Given the description of an element on the screen output the (x, y) to click on. 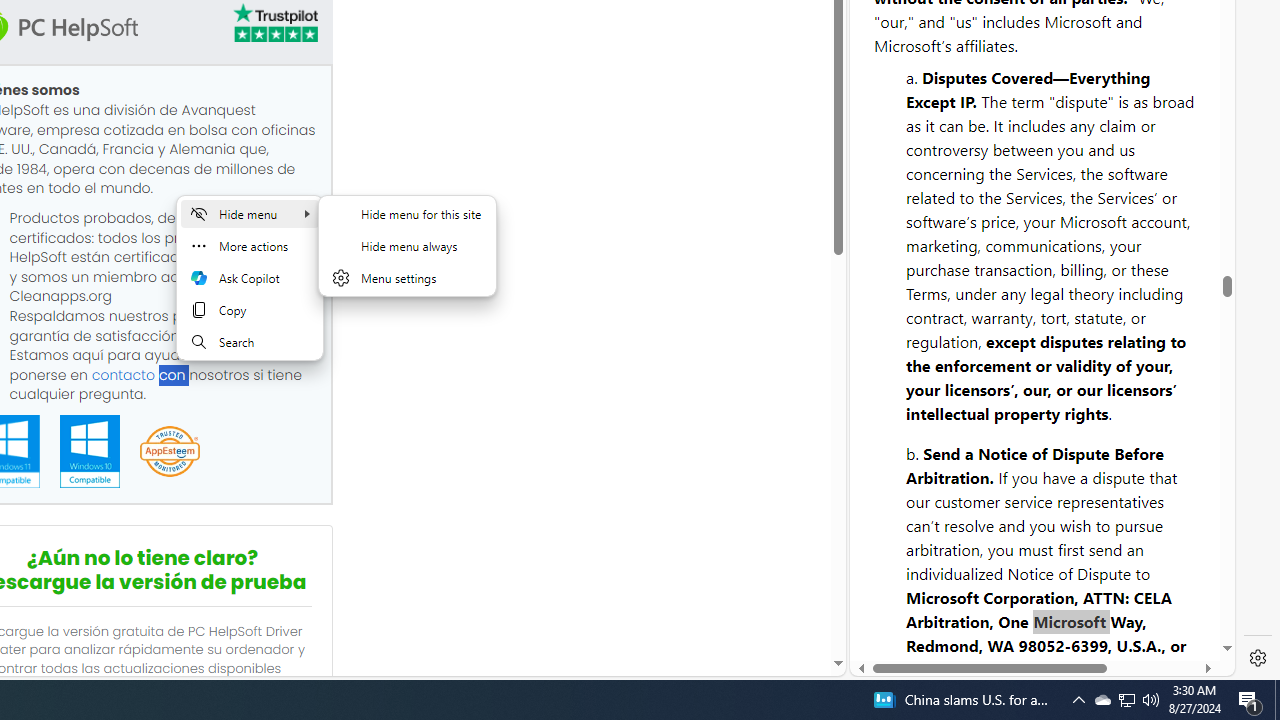
Menu settings (407, 277)
Ask Copilot (249, 277)
Windows 10 Compatible (89, 451)
Feedback (1154, 611)
Mini menu on text selection (250, 290)
Legal (992, 611)
Hide menu for this site (407, 213)
TrustPilot (274, 22)
More actions (249, 245)
Advertise (1067, 611)
Advertise (1066, 602)
App Esteem (169, 452)
Feedback (1155, 602)
